Given the description of an element on the screen output the (x, y) to click on. 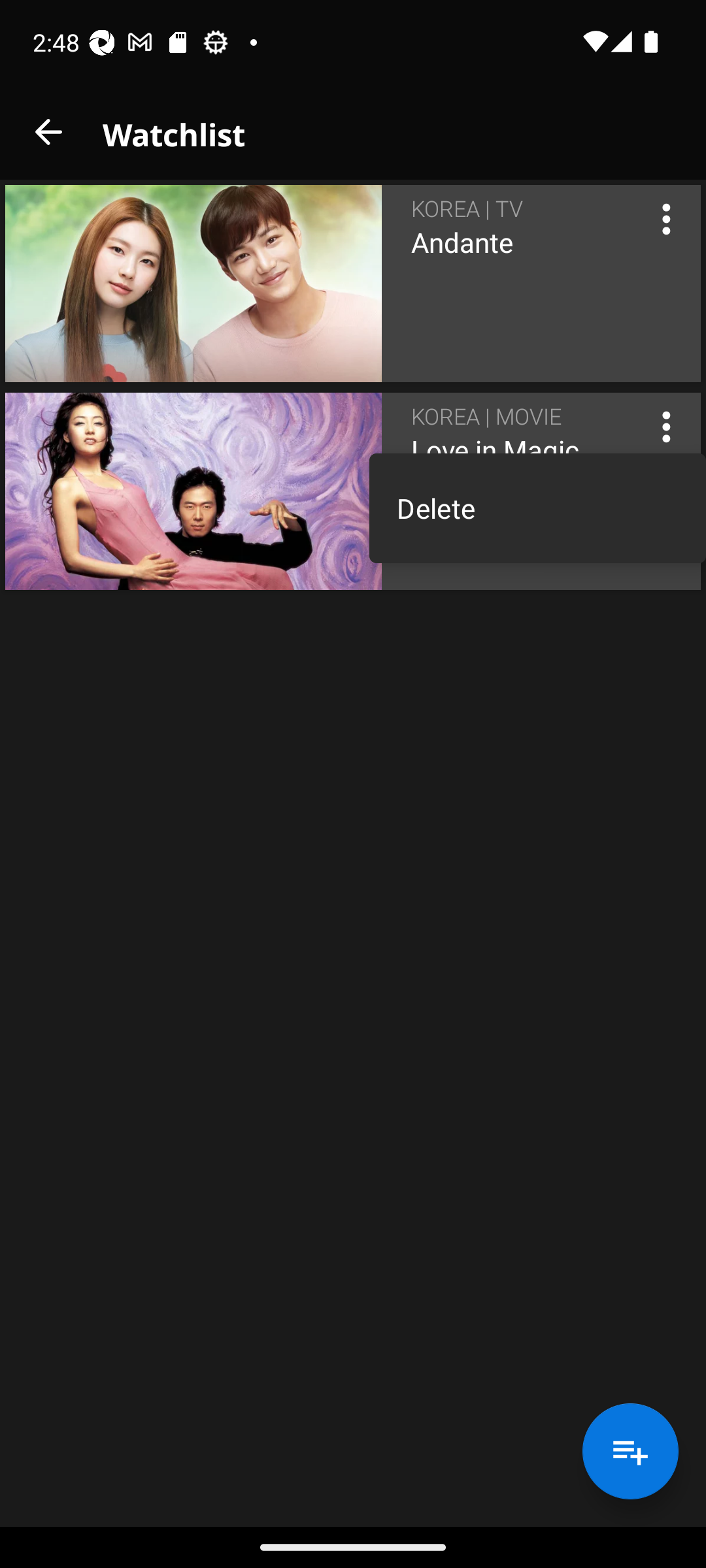
Delete (537, 507)
